Given the description of an element on the screen output the (x, y) to click on. 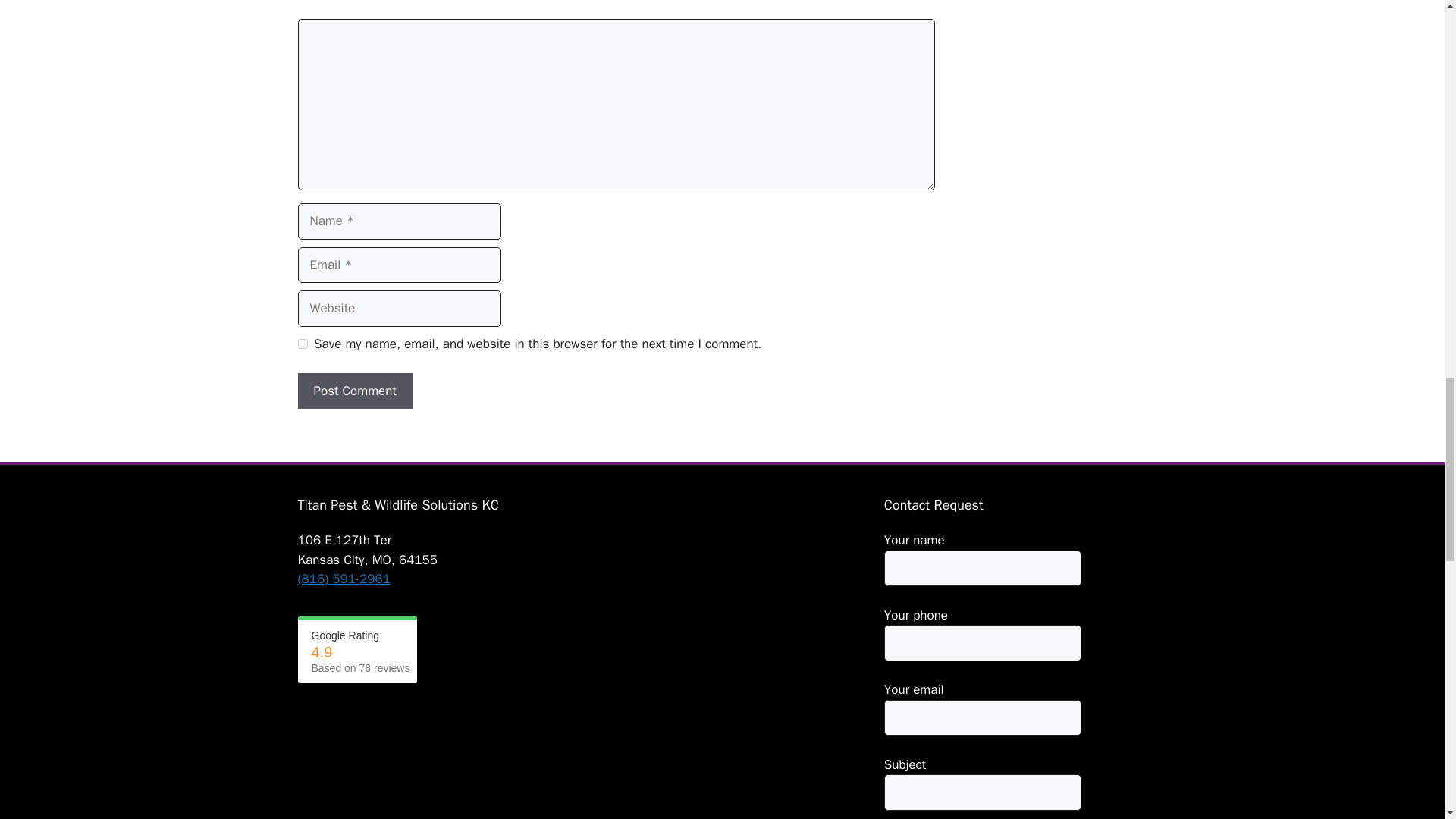
yes (302, 343)
Post Comment (354, 391)
